Given the description of an element on the screen output the (x, y) to click on. 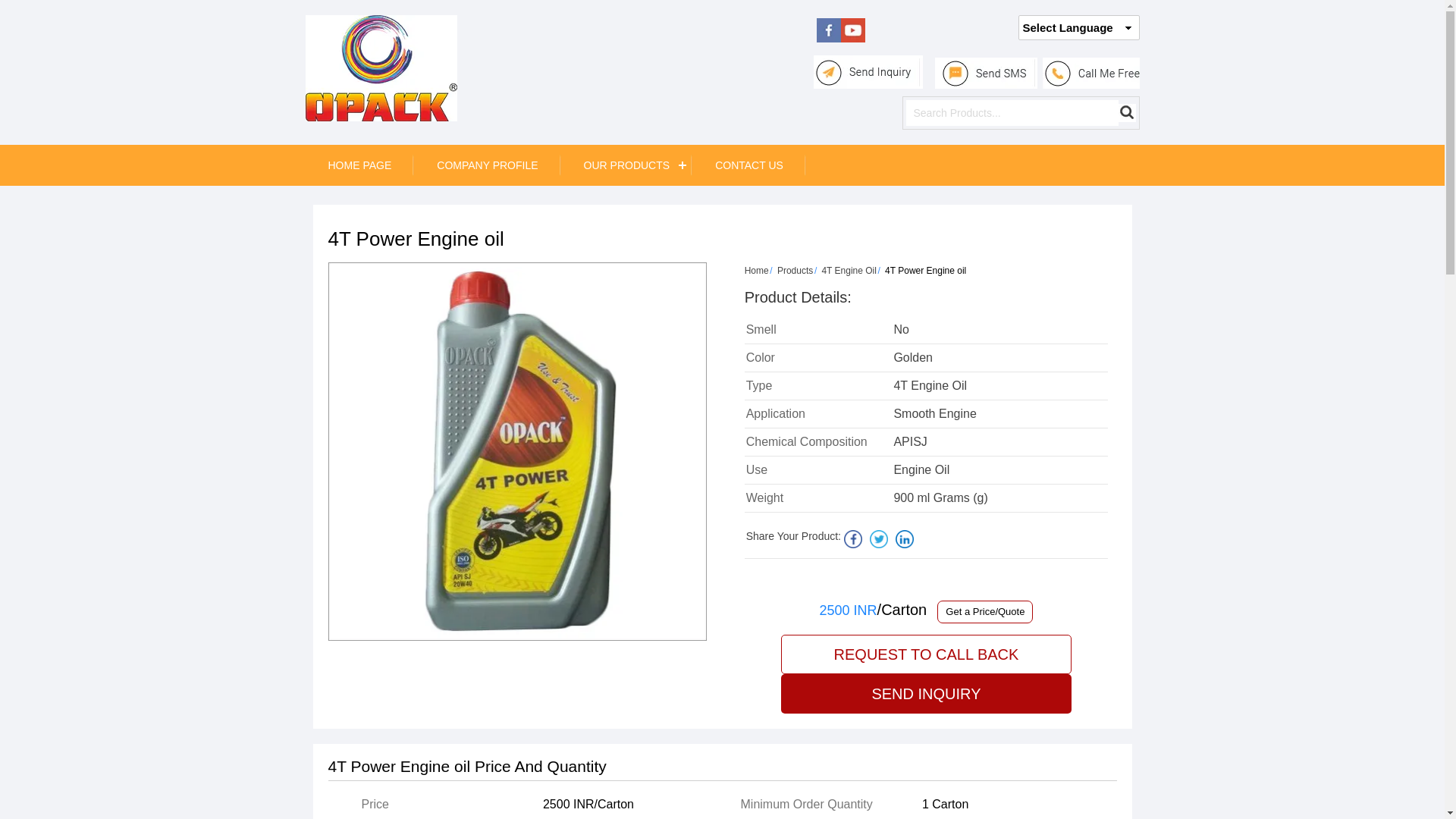
OUR PRODUCTS (626, 164)
Send inquiry (868, 71)
HOME PAGE (358, 164)
Call Me Free (1090, 72)
Facebook (828, 38)
GLOBAL ENTERPRISE (380, 68)
Search Products... (1011, 112)
COMPANY PROFILE (486, 164)
Send SMS (985, 72)
You Tube (852, 38)
